Given the description of an element on the screen output the (x, y) to click on. 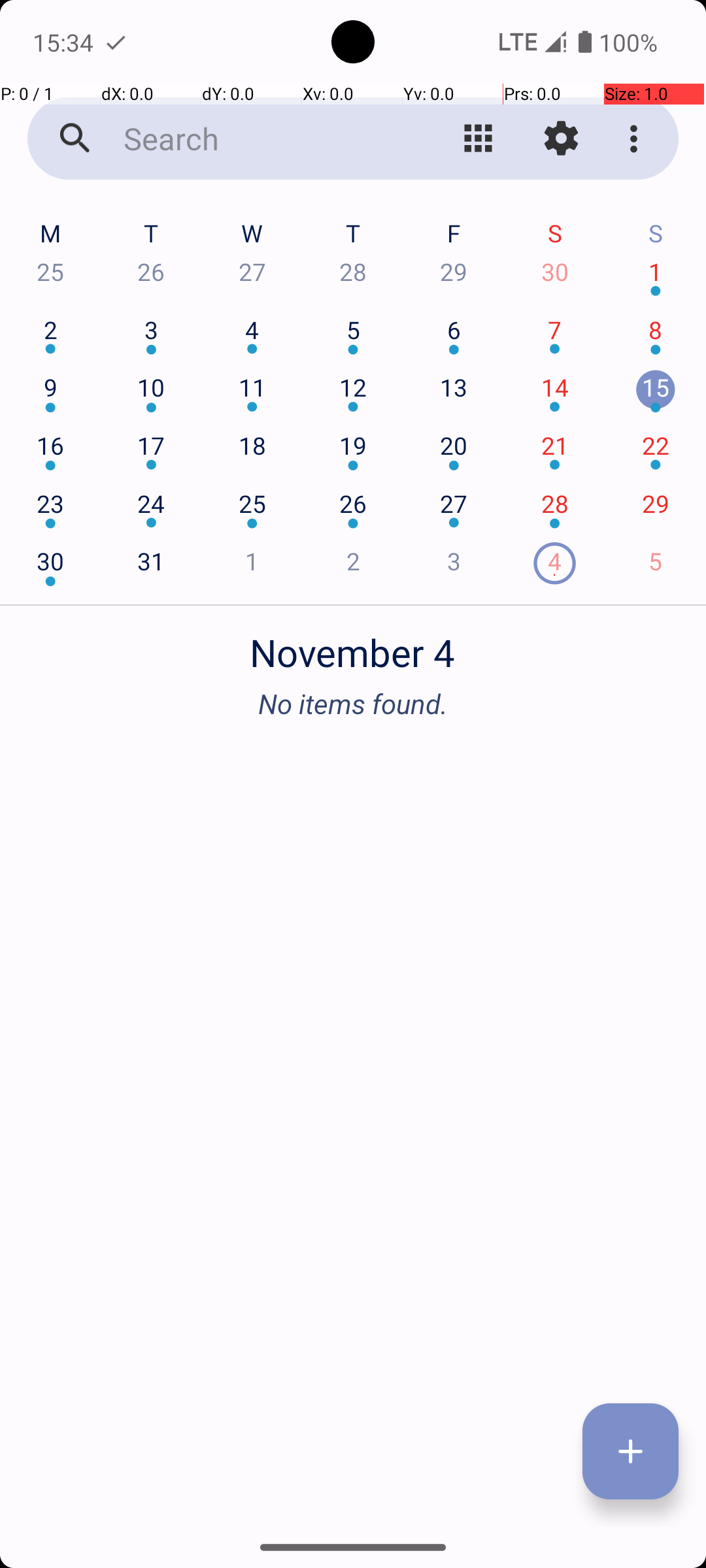
November 4 Element type: android.widget.TextView (352, 644)
